Given the description of an element on the screen output the (x, y) to click on. 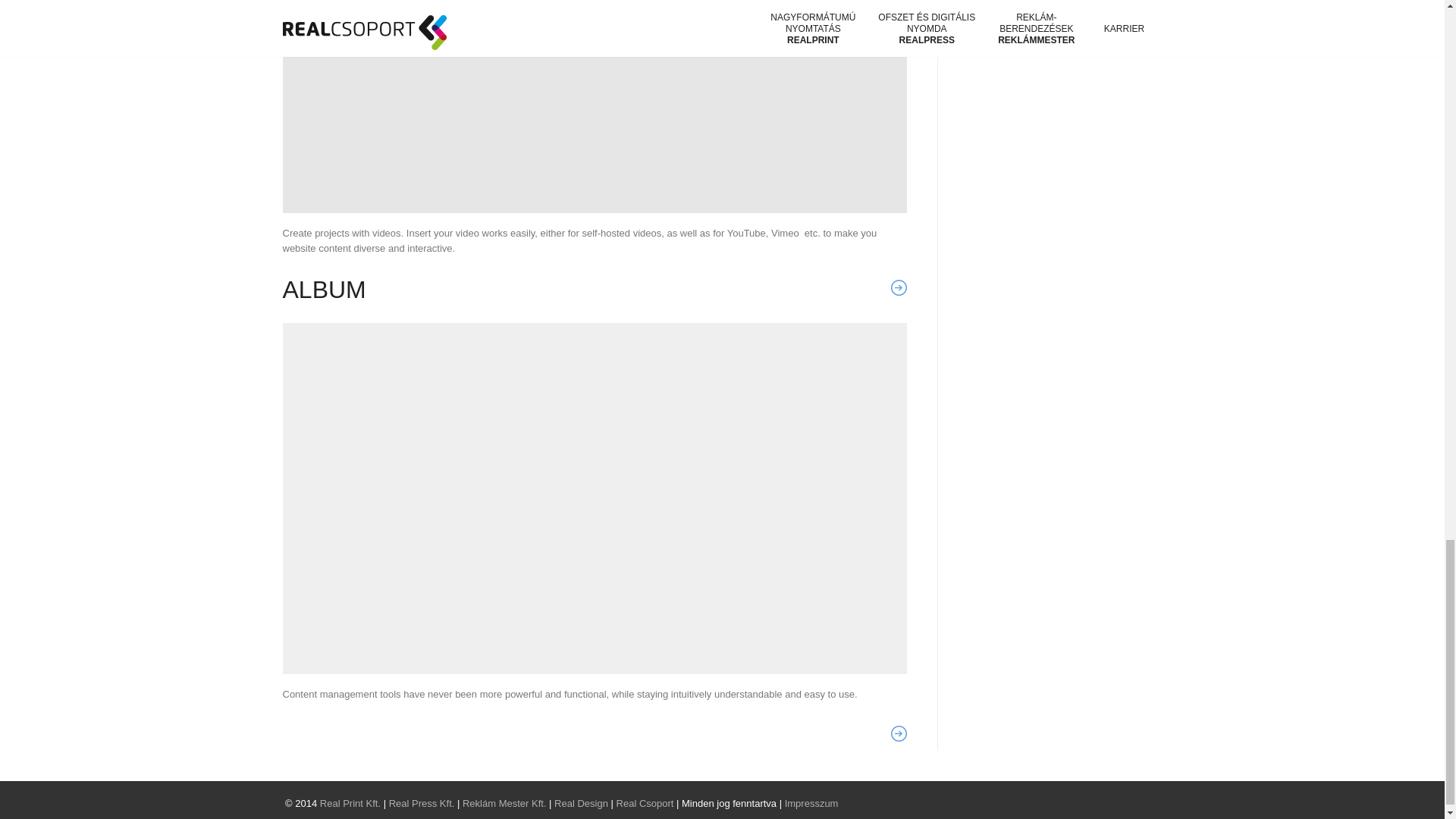
ALBUM (323, 289)
Video project (594, 106)
